Given the description of an element on the screen output the (x, y) to click on. 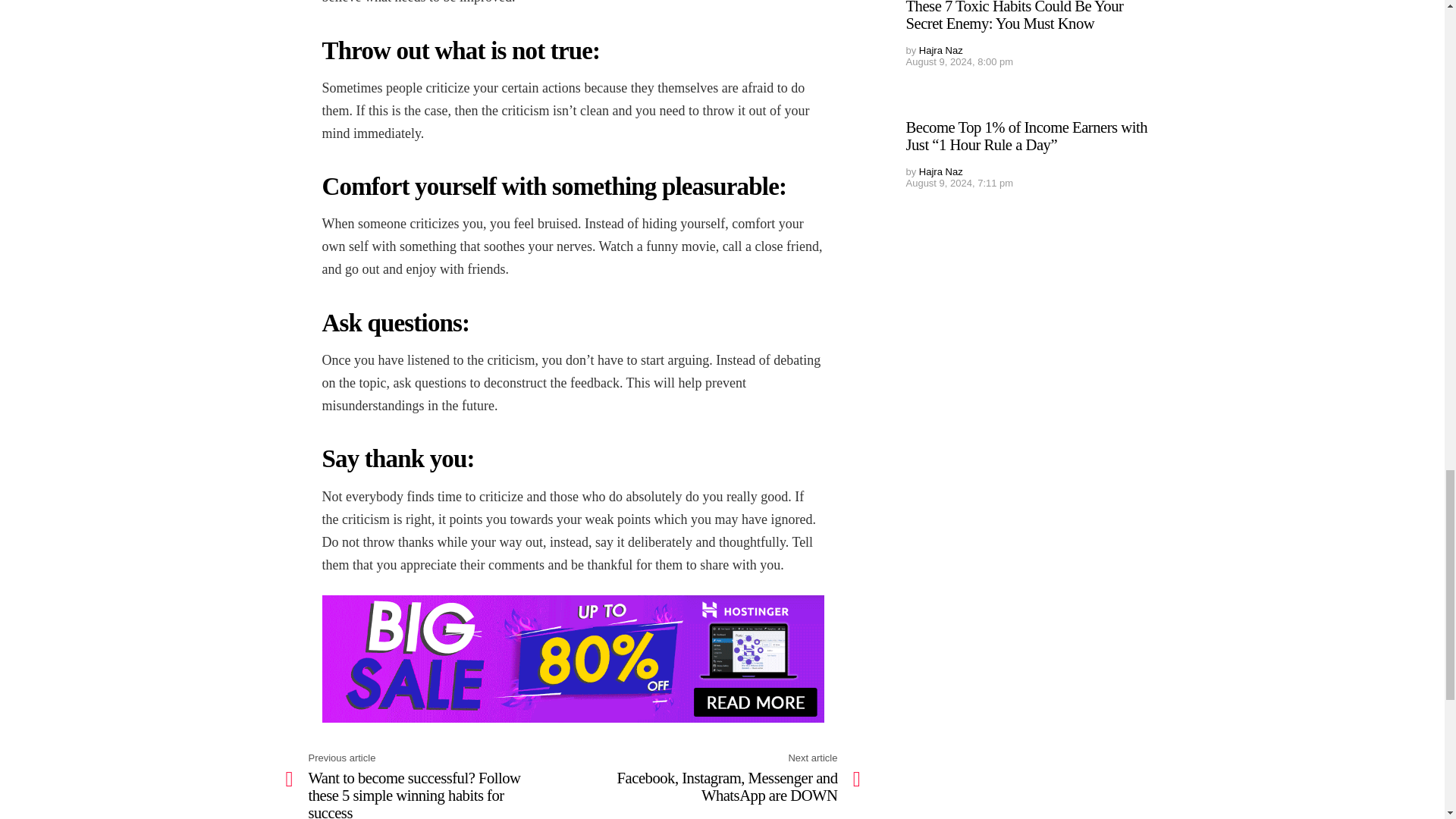
Posts by Hajra Naz (940, 171)
Want a Free Website (572, 659)
Posts by Hajra Naz (940, 50)
